Given the description of an element on the screen output the (x, y) to click on. 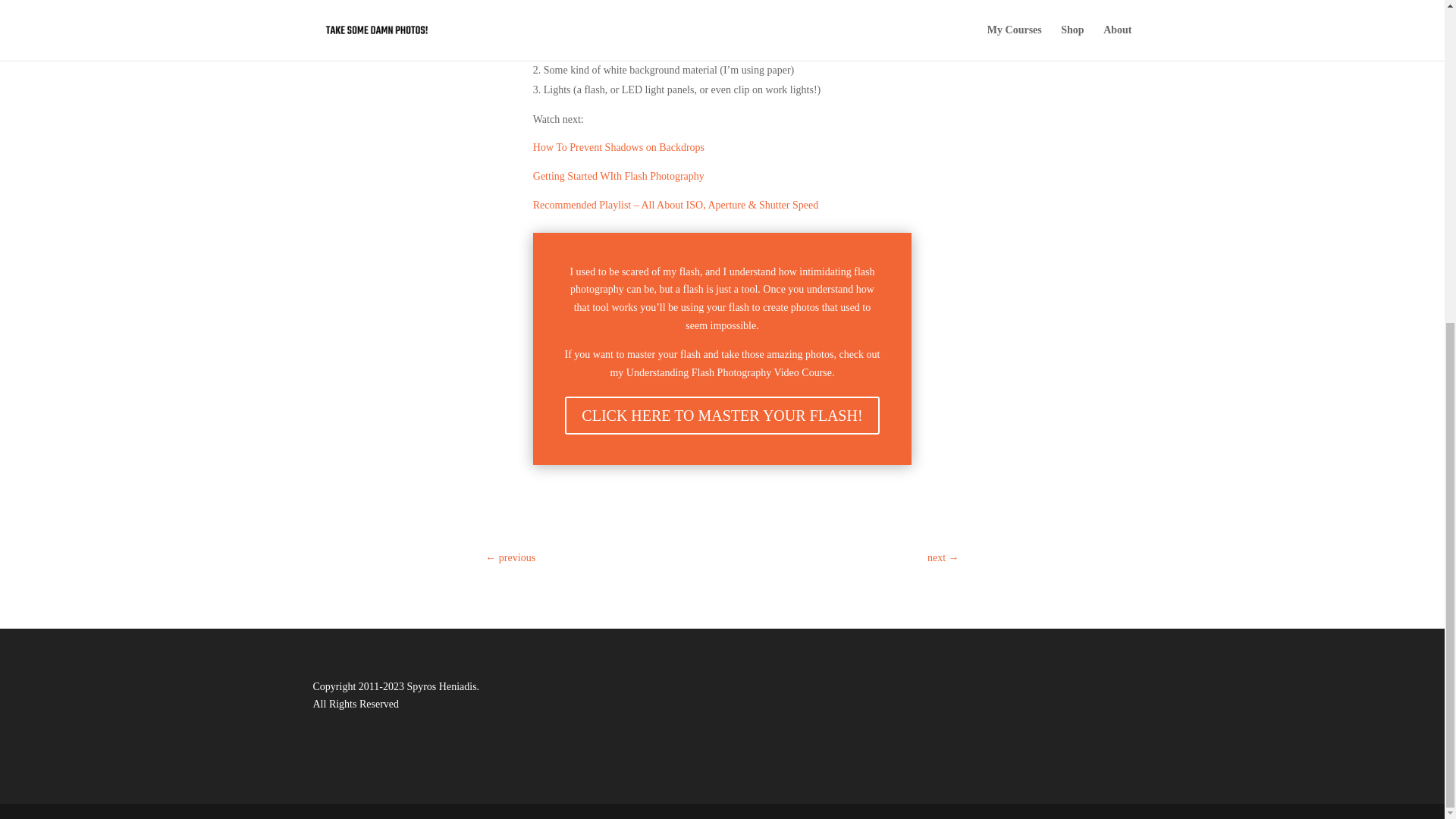
How To Prevent Shadows on Backdrops (618, 147)
Getting Started WIth Flash Photography (618, 175)
CLICK HERE TO MASTER YOUR FLASH! (721, 415)
